Given the description of an element on the screen output the (x, y) to click on. 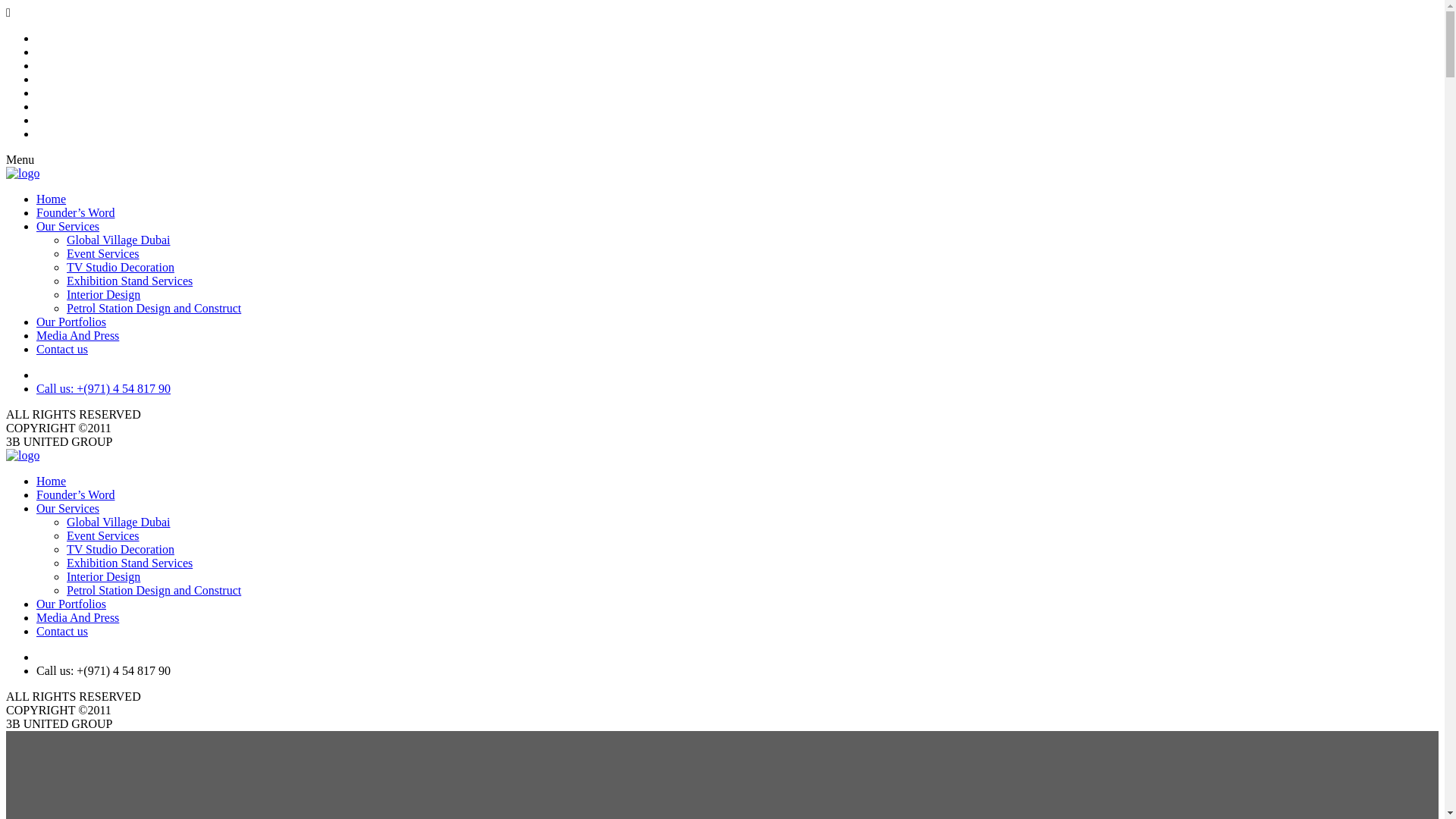
Interior Design Element type: text (103, 294)
Home Element type: text (50, 480)
Interior Design Element type: text (103, 576)
TV Studio Decoration Element type: text (120, 548)
Our Services Element type: text (67, 225)
Our Services Element type: text (67, 508)
Media And Press Element type: text (77, 617)
Global Village Dubai Element type: text (118, 239)
TV Studio Decoration Element type: text (120, 266)
Event Services Element type: text (102, 535)
Our Portfolios Element type: text (71, 603)
Home Element type: text (50, 198)
Exhibition Stand Services Element type: text (129, 280)
Petrol Station Design and Construct Element type: text (153, 589)
Media And Press Element type: text (77, 335)
Exhibition Stand Services Element type: text (129, 562)
Contact us Element type: text (61, 630)
Petrol Station Design and Construct Element type: text (153, 307)
Event Services Element type: text (102, 253)
Global Village Dubai Element type: text (118, 521)
Call us: +(971) 4 54 817 90 Element type: text (103, 388)
Our Portfolios Element type: text (71, 321)
Contact us Element type: text (61, 348)
